Given the description of an element on the screen output the (x, y) to click on. 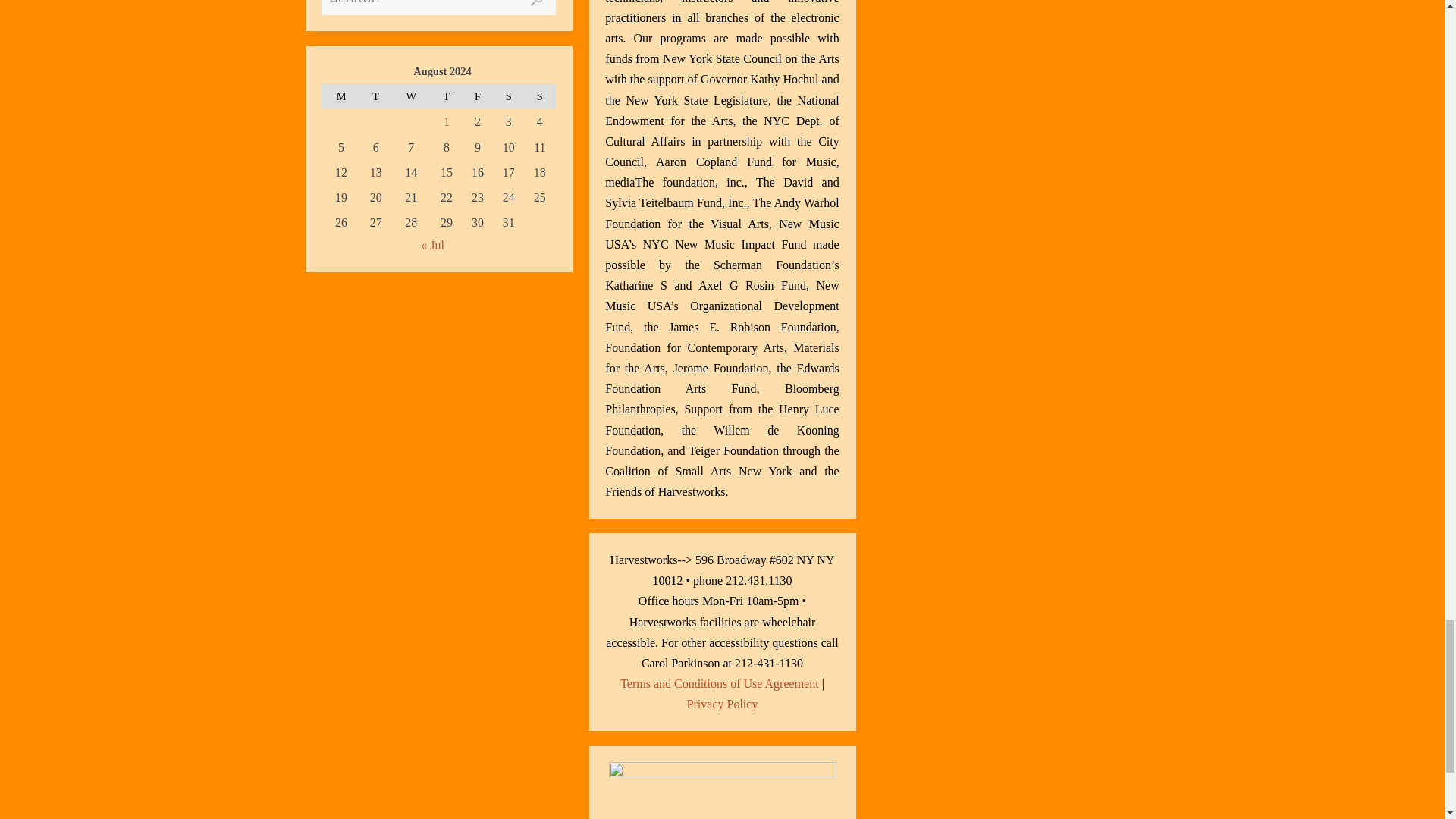
Saturday (508, 96)
Monday (340, 96)
Thursday (446, 96)
Friday (477, 96)
Sunday (539, 96)
Terms Of Use (719, 683)
Tuesday (375, 96)
Wednesday (410, 96)
